Given the description of an element on the screen output the (x, y) to click on. 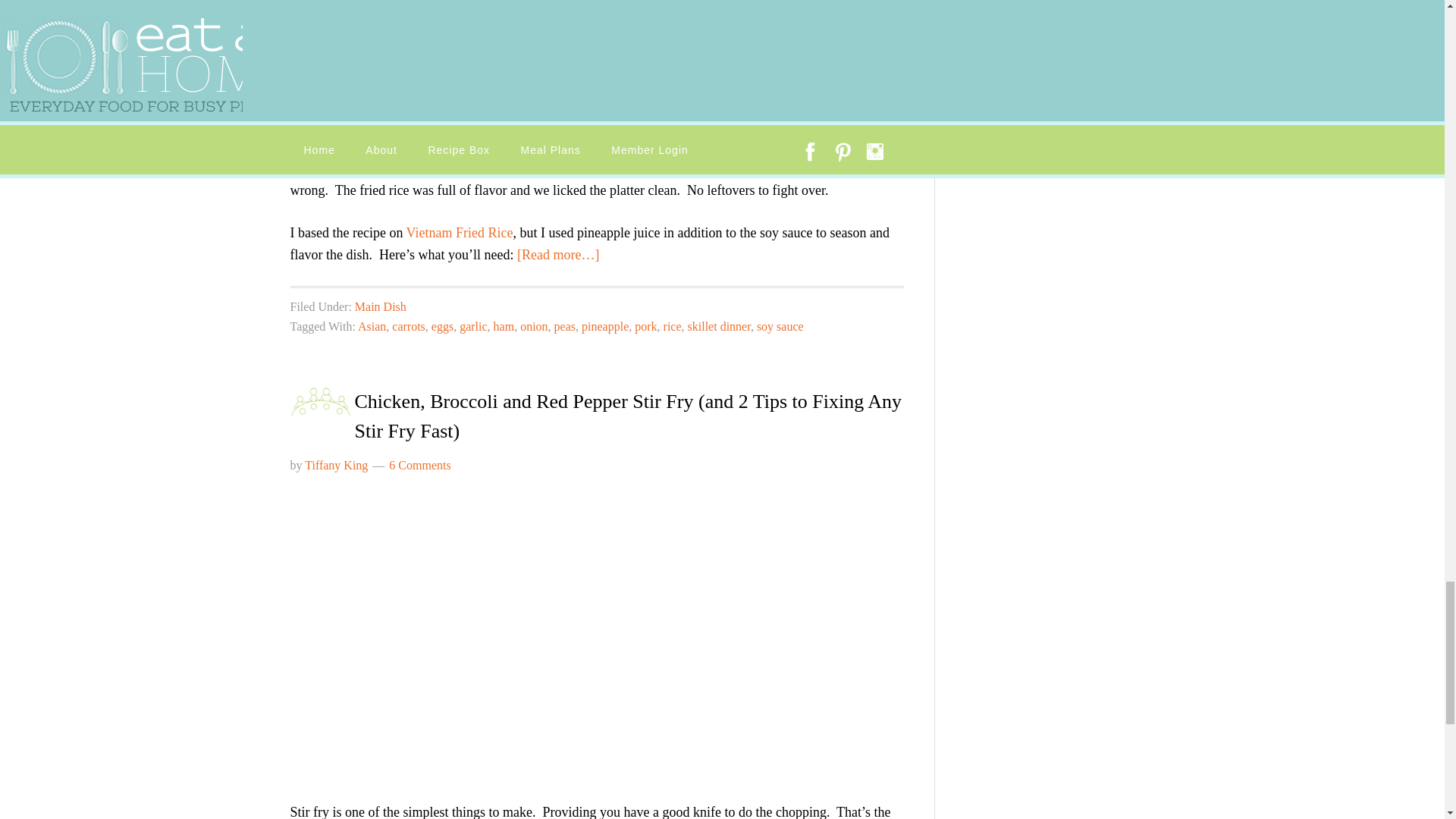
chicken broccoli and red pepper stir fry done (493, 629)
